Given the description of an element on the screen output the (x, y) to click on. 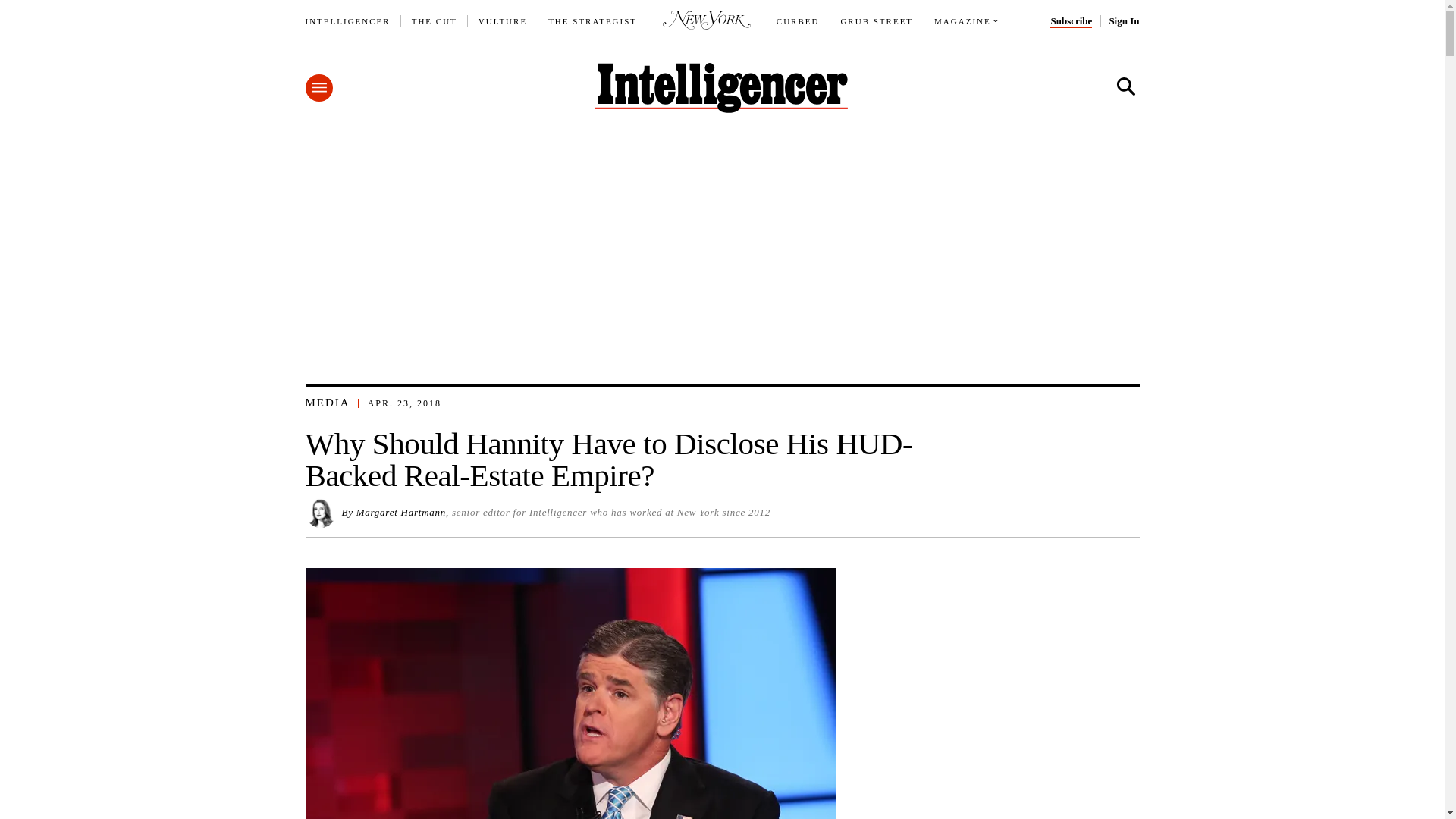
Search (1124, 86)
INTELLIGENCER (347, 21)
Menu (317, 87)
Search (1124, 86)
Subscribe (1070, 21)
Sign In (1123, 21)
THE CUT (434, 21)
GRUB STREET (876, 21)
CURBED (797, 21)
THE STRATEGIST (592, 21)
MAGAZINE (962, 21)
3rd party ad content (722, 240)
VULTURE (503, 21)
